Given the description of an element on the screen output the (x, y) to click on. 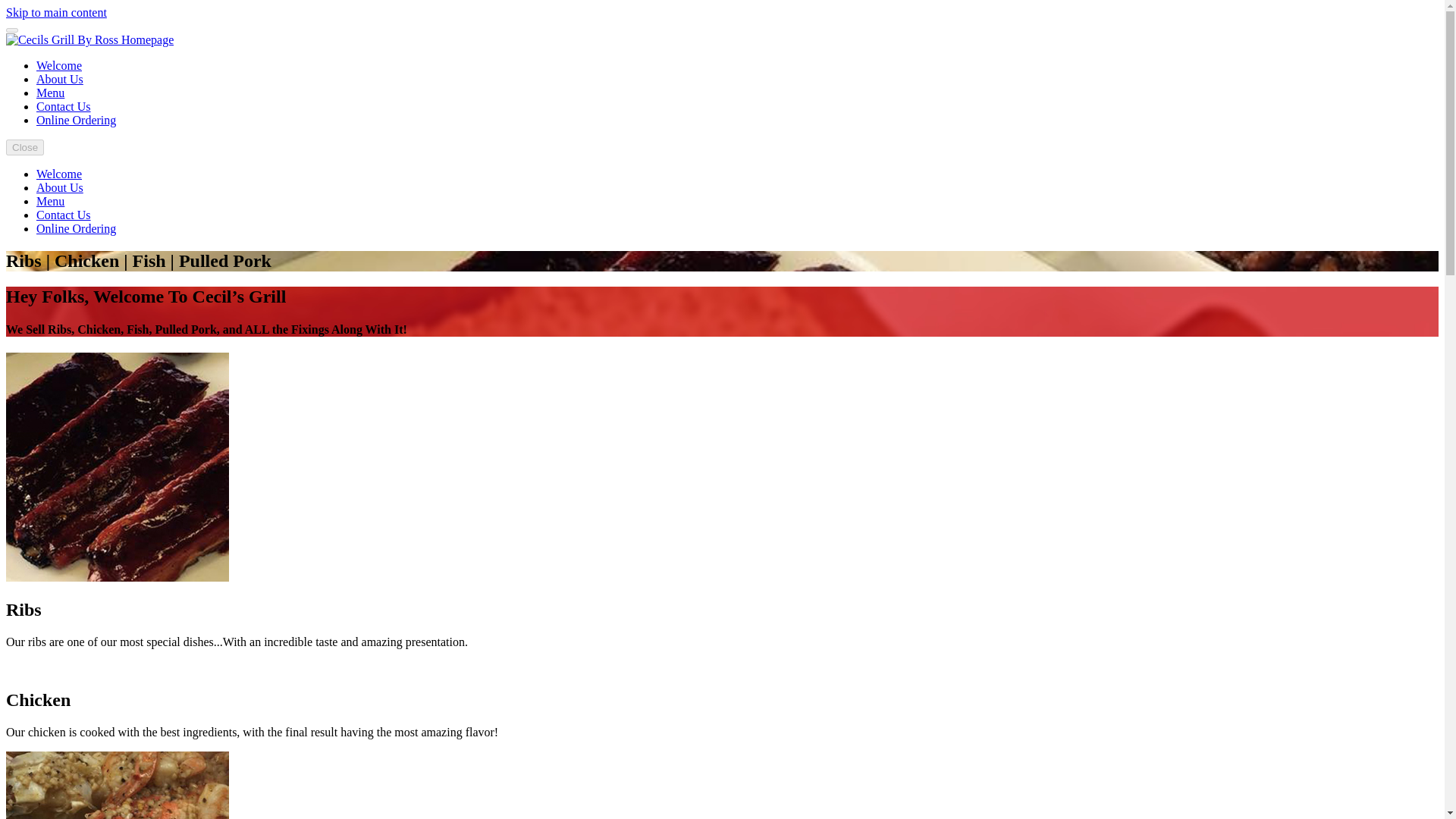
Close (24, 147)
Online Ordering (76, 228)
Online Ordering (76, 119)
Skip to main content (55, 11)
About Us (59, 78)
Contact Us (63, 106)
Contact Us (63, 214)
Menu (50, 92)
Menu (50, 201)
Welcome (58, 65)
Welcome (58, 173)
About Us (59, 187)
